Given the description of an element on the screen output the (x, y) to click on. 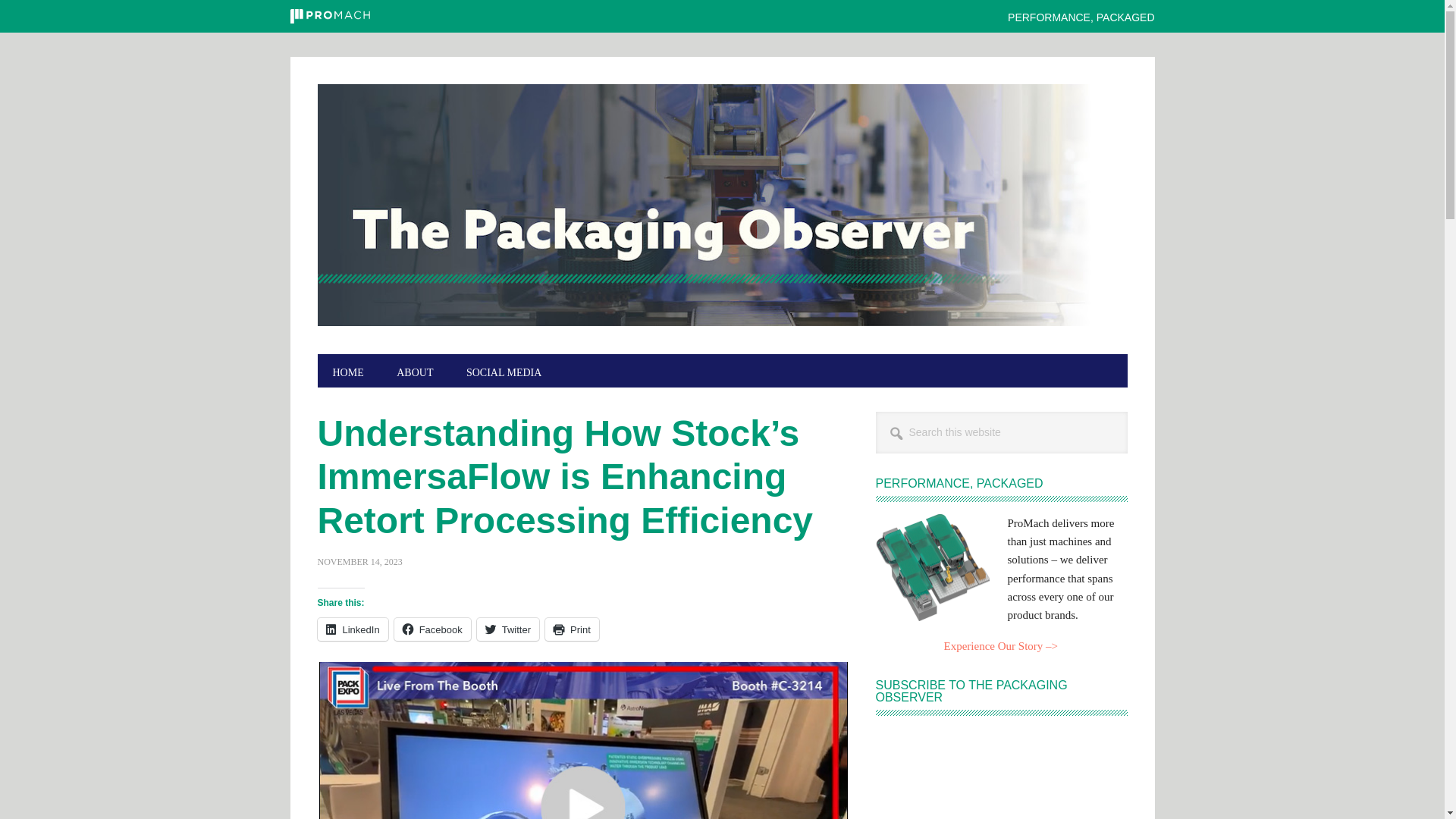
Click to print (571, 629)
Facebook (432, 629)
ABOUT (414, 370)
Twitter (507, 629)
Click to share on Facebook (432, 629)
Click to share on Twitter (507, 629)
HOME (347, 370)
Click to share on LinkedIn (352, 629)
LinkedIn (352, 629)
Subscribe to The Packaging Observer (1000, 773)
SOCIAL MEDIA (503, 370)
Print (571, 629)
